Given the description of an element on the screen output the (x, y) to click on. 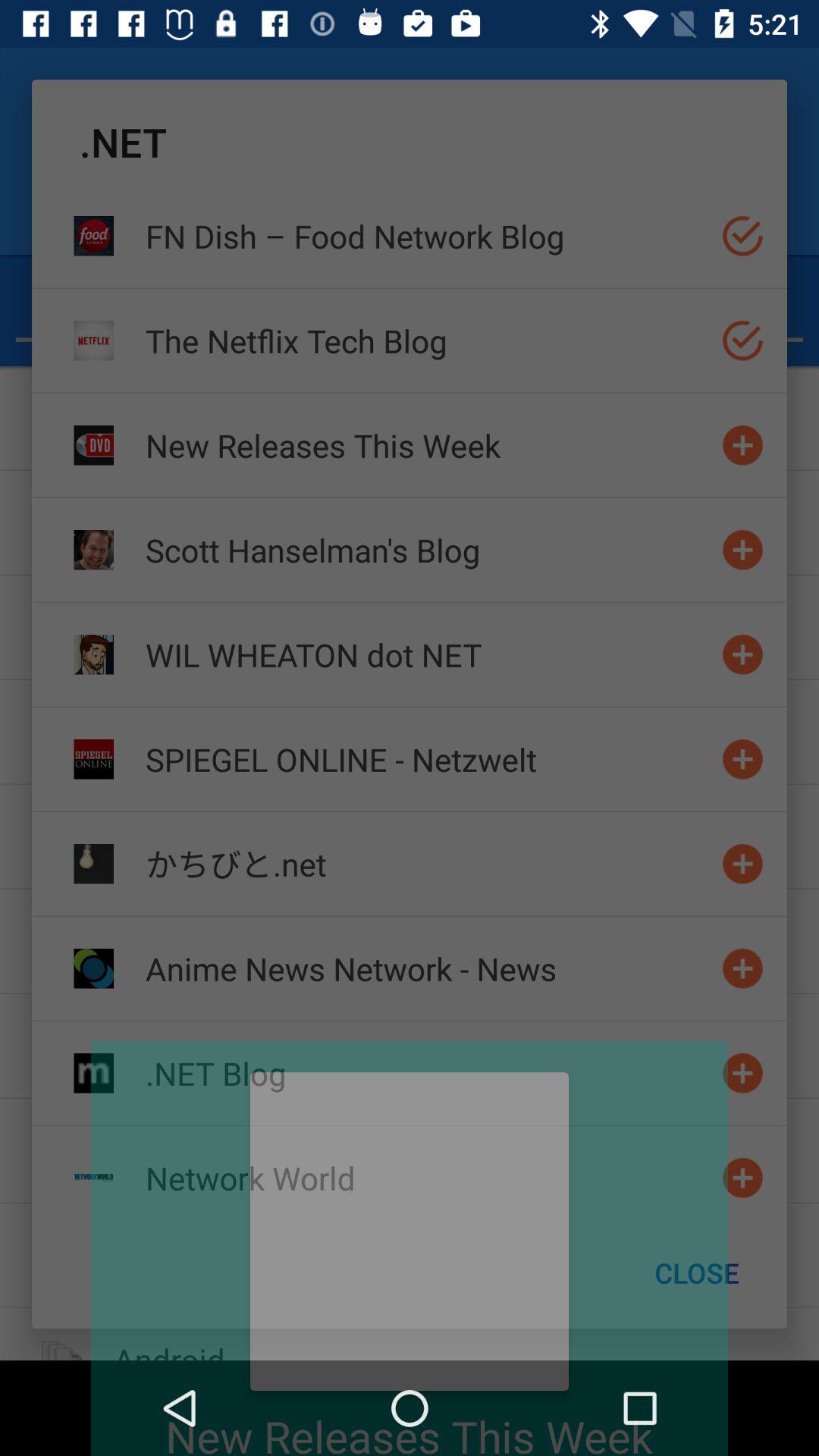
choose the spiegel online - netzwelt icon (426, 758)
